Given the description of an element on the screen output the (x, y) to click on. 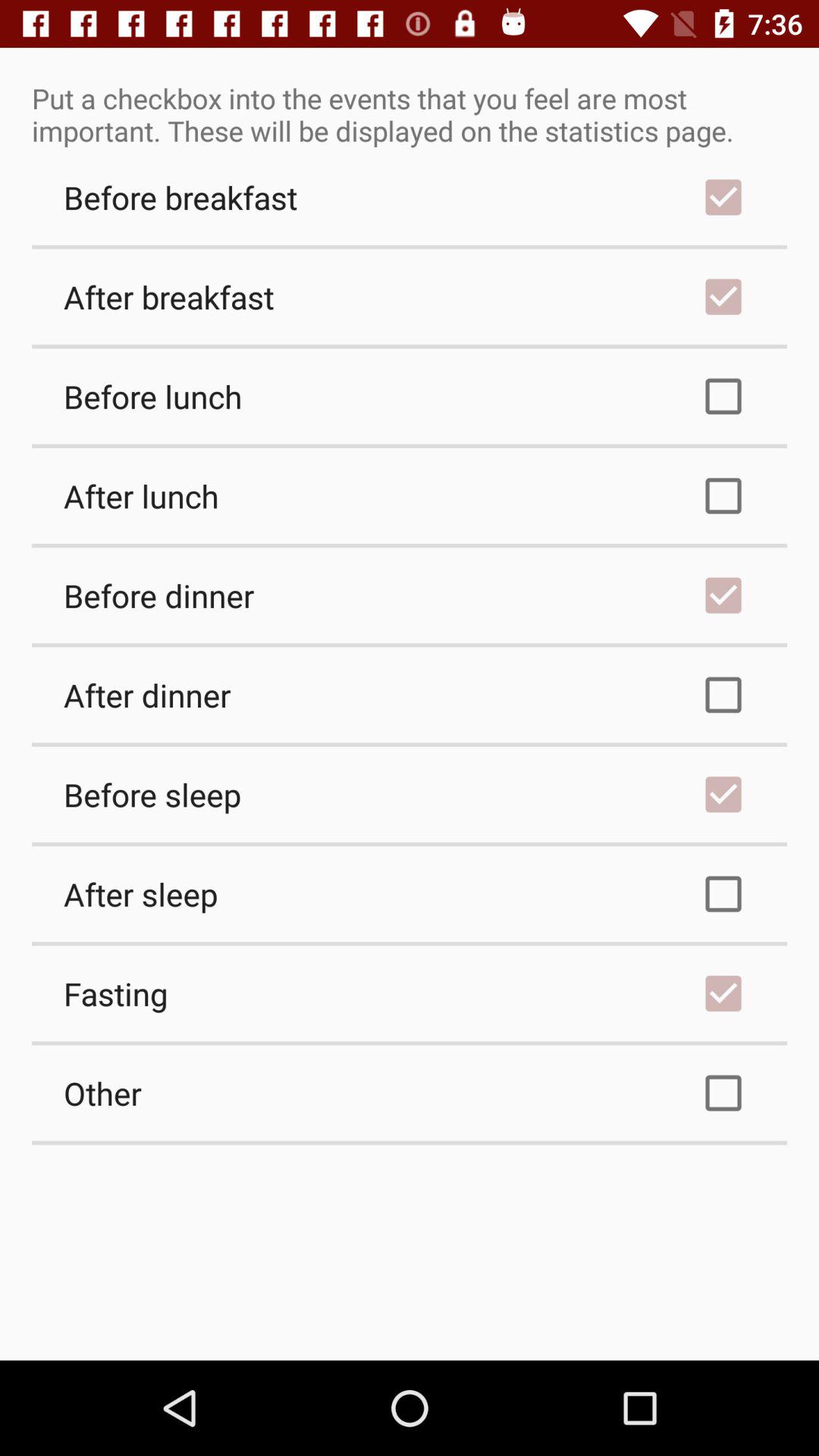
click item below the before breakfast icon (409, 296)
